Given the description of an element on the screen output the (x, y) to click on. 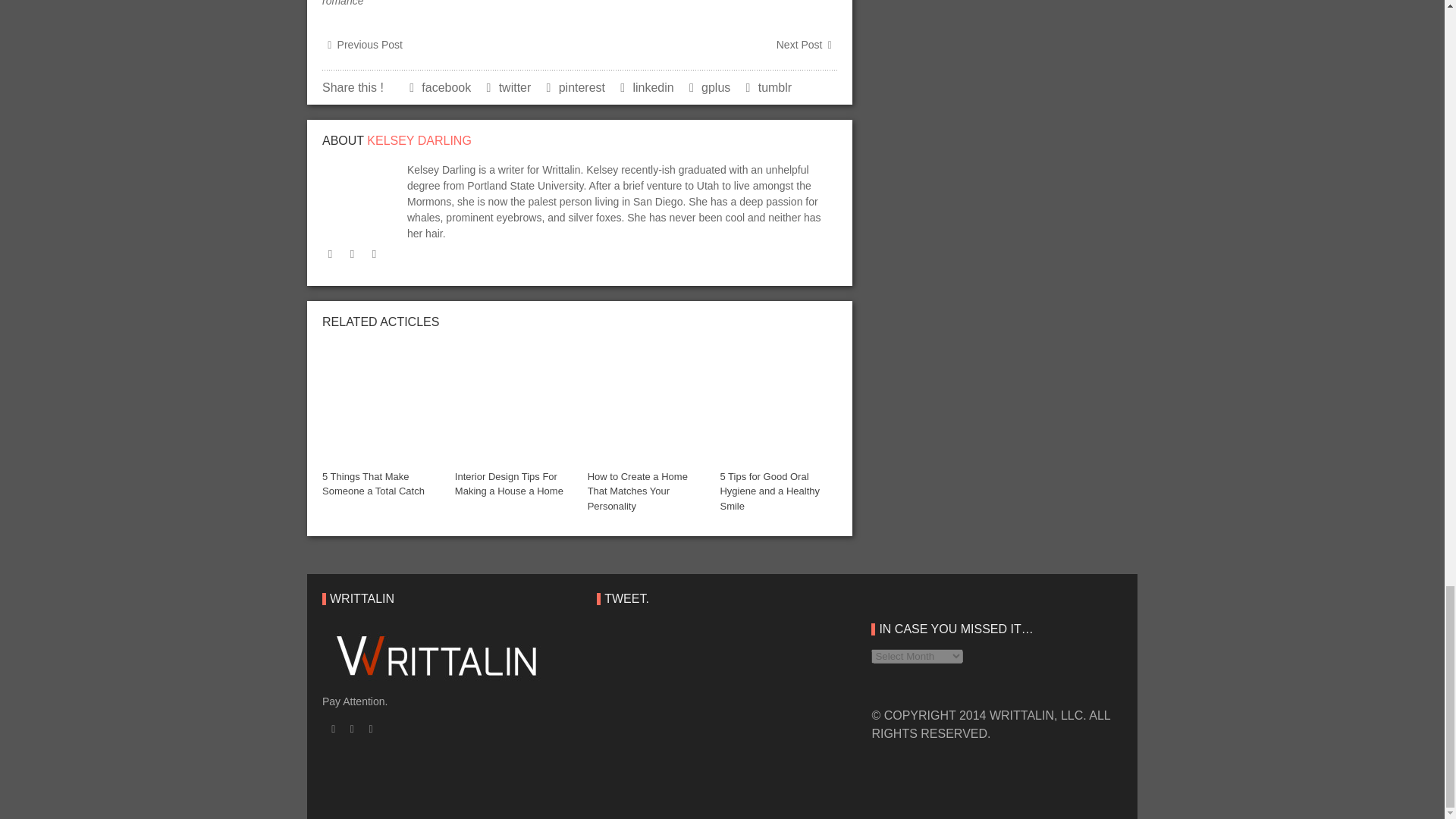
5 Things That Make Someone a Total Catch (380, 401)
How to Create a Home That Matches Your Personality (637, 490)
5 Things That Make Someone a Total Catch (373, 483)
Posts by Kelsey Darling (418, 140)
site (351, 253)
flickr (329, 253)
How to Create a Home That Matches Your Personality (646, 401)
Interior Design Tips For Making a House a Home (508, 483)
email (373, 253)
Interior Design Tips For Making a House a Home (513, 401)
